Given the description of an element on the screen output the (x, y) to click on. 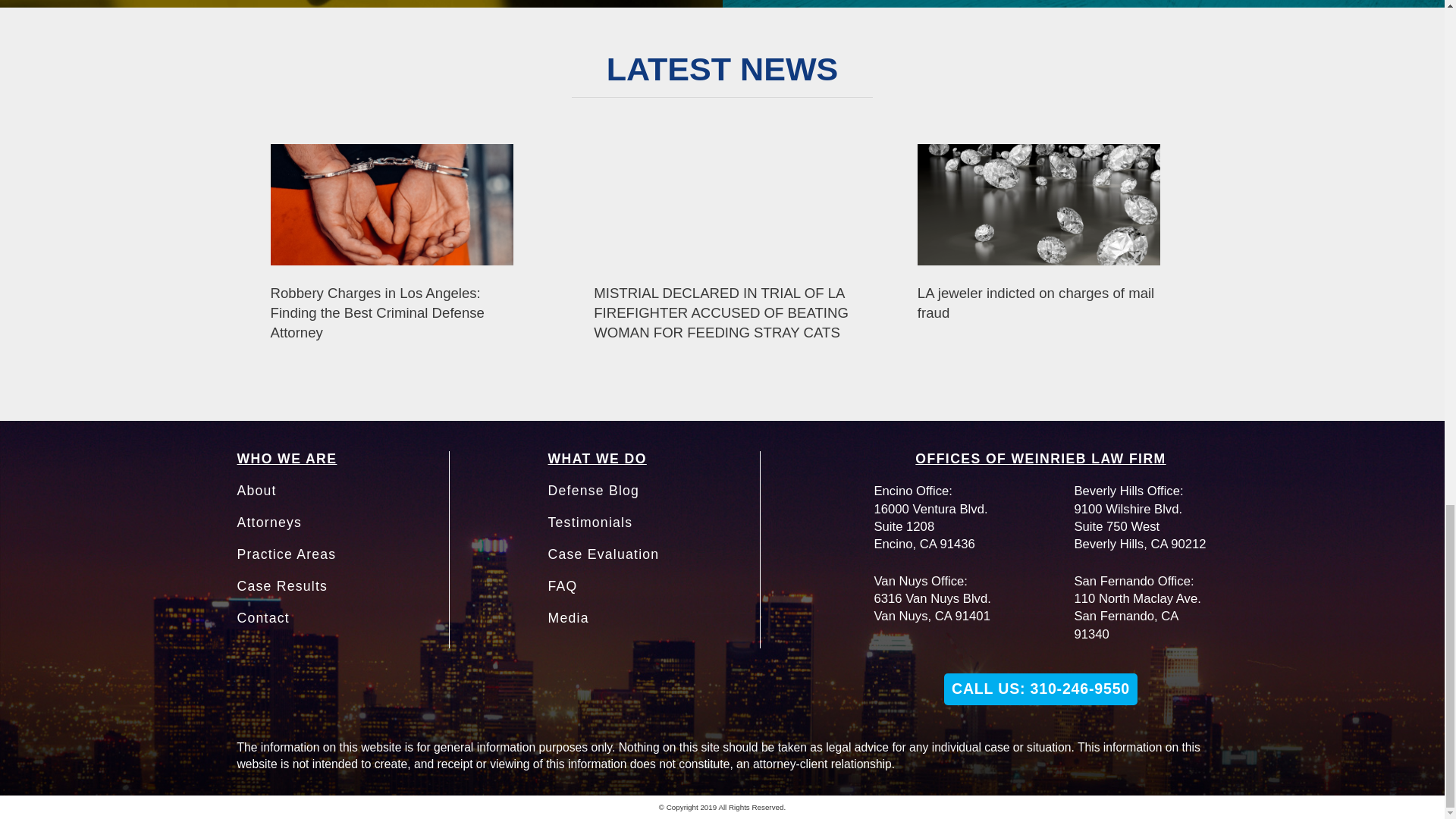
Practice Areas (285, 554)
Case Evaluation (603, 554)
Defense Blog (593, 490)
Attorneys (268, 522)
About (255, 490)
Testimonials (589, 522)
FAQ (561, 585)
LA jeweler indicted on charges of mail fraud (1038, 204)
Case Results (281, 585)
Media (567, 617)
LA jeweler indicted on charges of mail fraud (1045, 321)
